Given the description of an element on the screen output the (x, y) to click on. 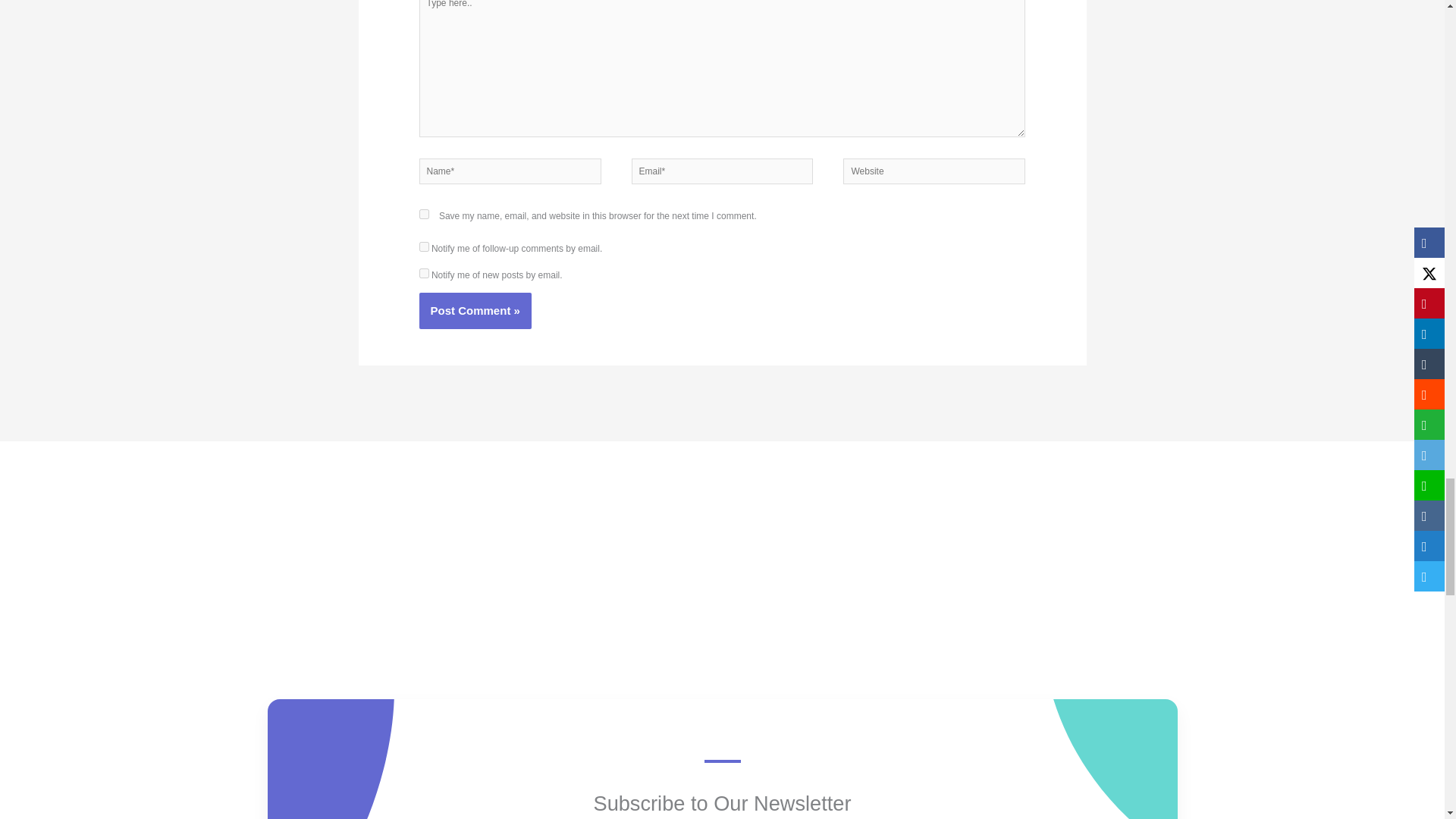
subscribe (424, 273)
yes (424, 214)
subscribe (424, 246)
